Given the description of an element on the screen output the (x, y) to click on. 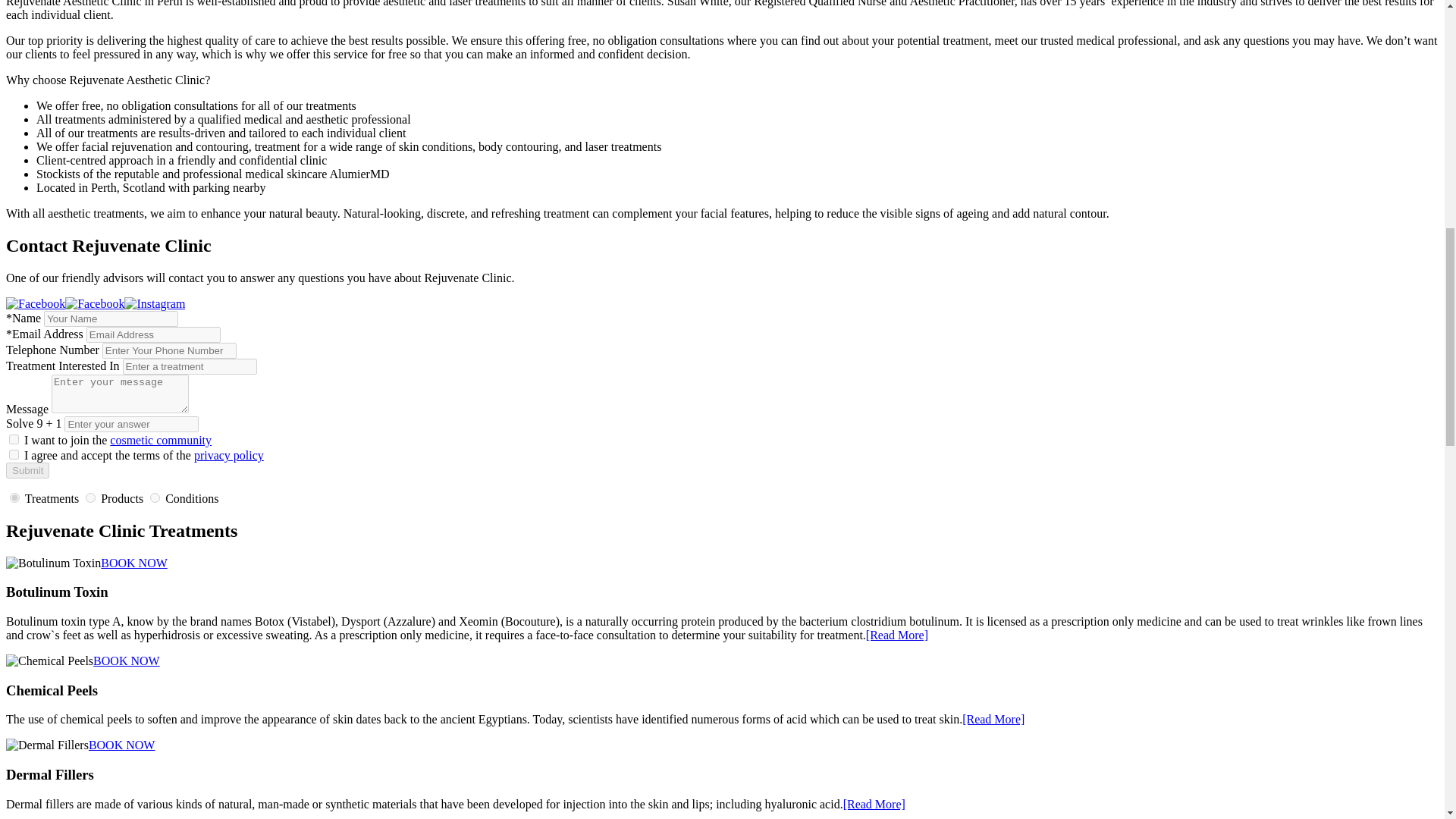
on (154, 497)
on (13, 454)
on (90, 497)
Submit (27, 470)
1 (13, 439)
on (15, 497)
